Given the description of an element on the screen output the (x, y) to click on. 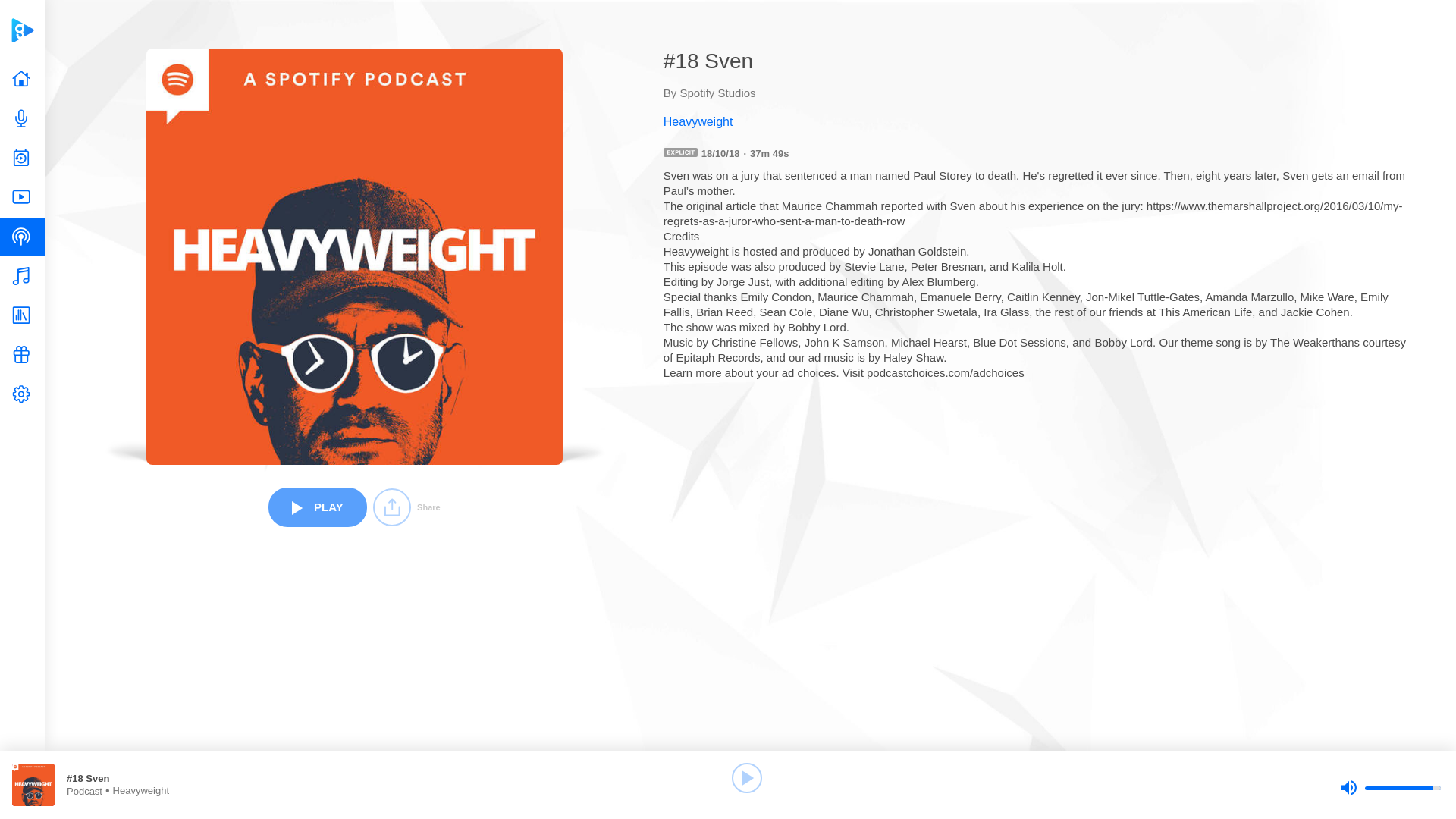
Global Player (22, 30)
PLAY (316, 507)
Share (406, 507)
Global Player (22, 30)
Heavyweight (1035, 121)
Share (406, 507)
